Given the description of an element on the screen output the (x, y) to click on. 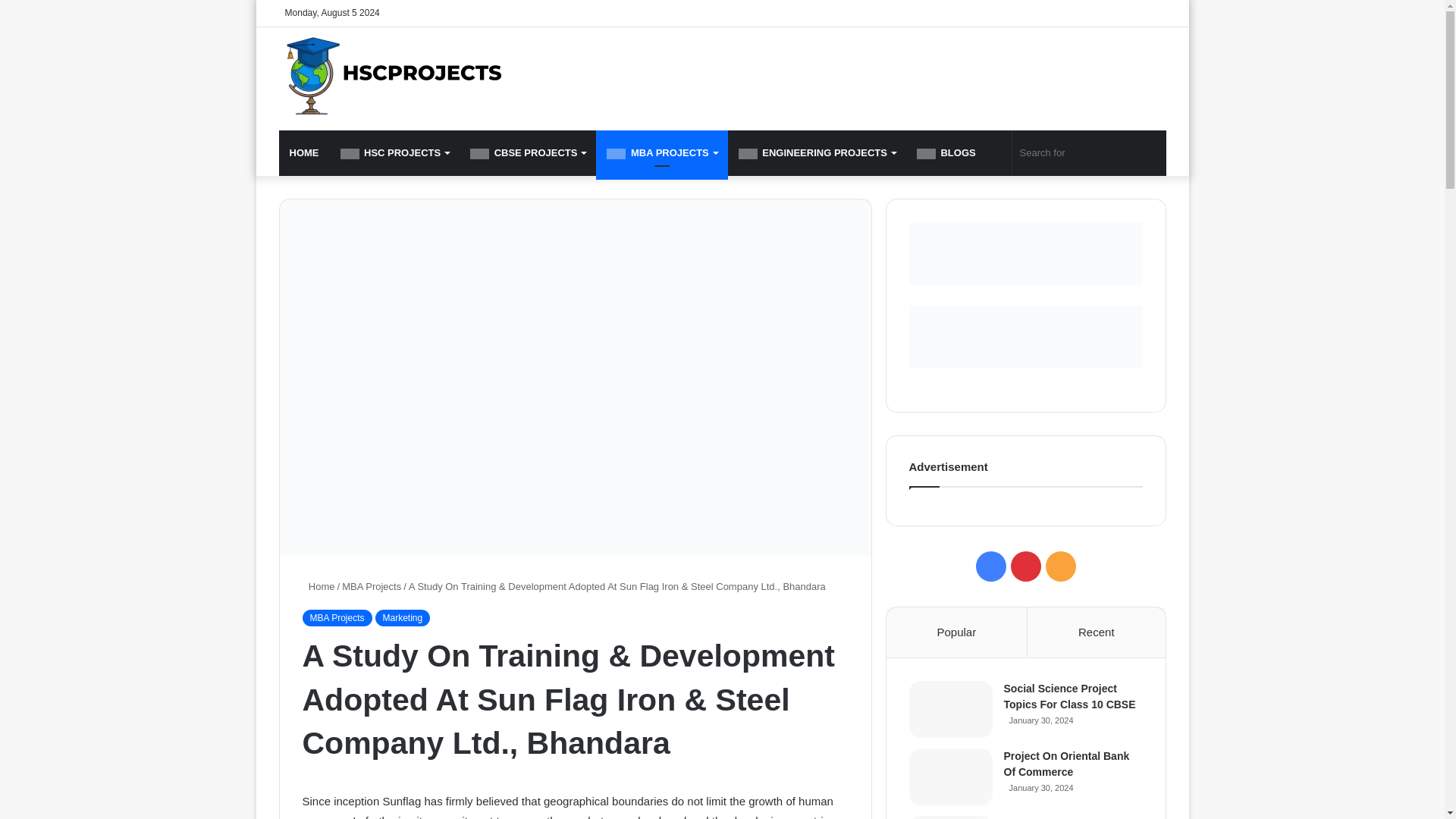
HSC Projects (390, 76)
HSC PROJECTS (394, 153)
Search for (1088, 153)
HOME (304, 153)
